Given the description of an element on the screen output the (x, y) to click on. 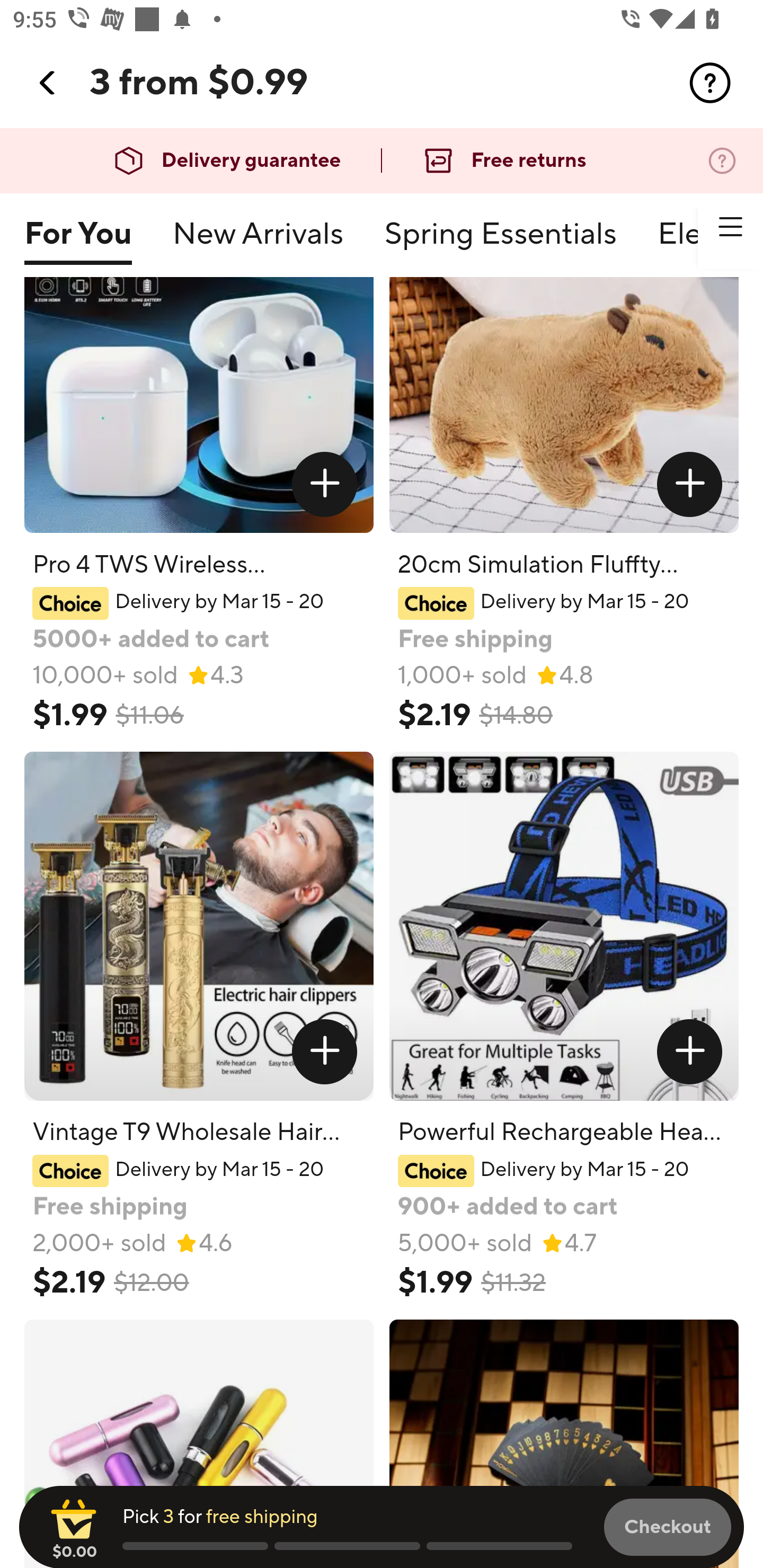
 (710, 82)
 (48, 82)
 (730, 226)
For You (77, 242)
New Arrivals (257, 242)
Spring Essentials (500, 242)
 (323, 484)
 (689, 484)
 (323, 1052)
 (689, 1052)
